Given the description of an element on the screen output the (x, y) to click on. 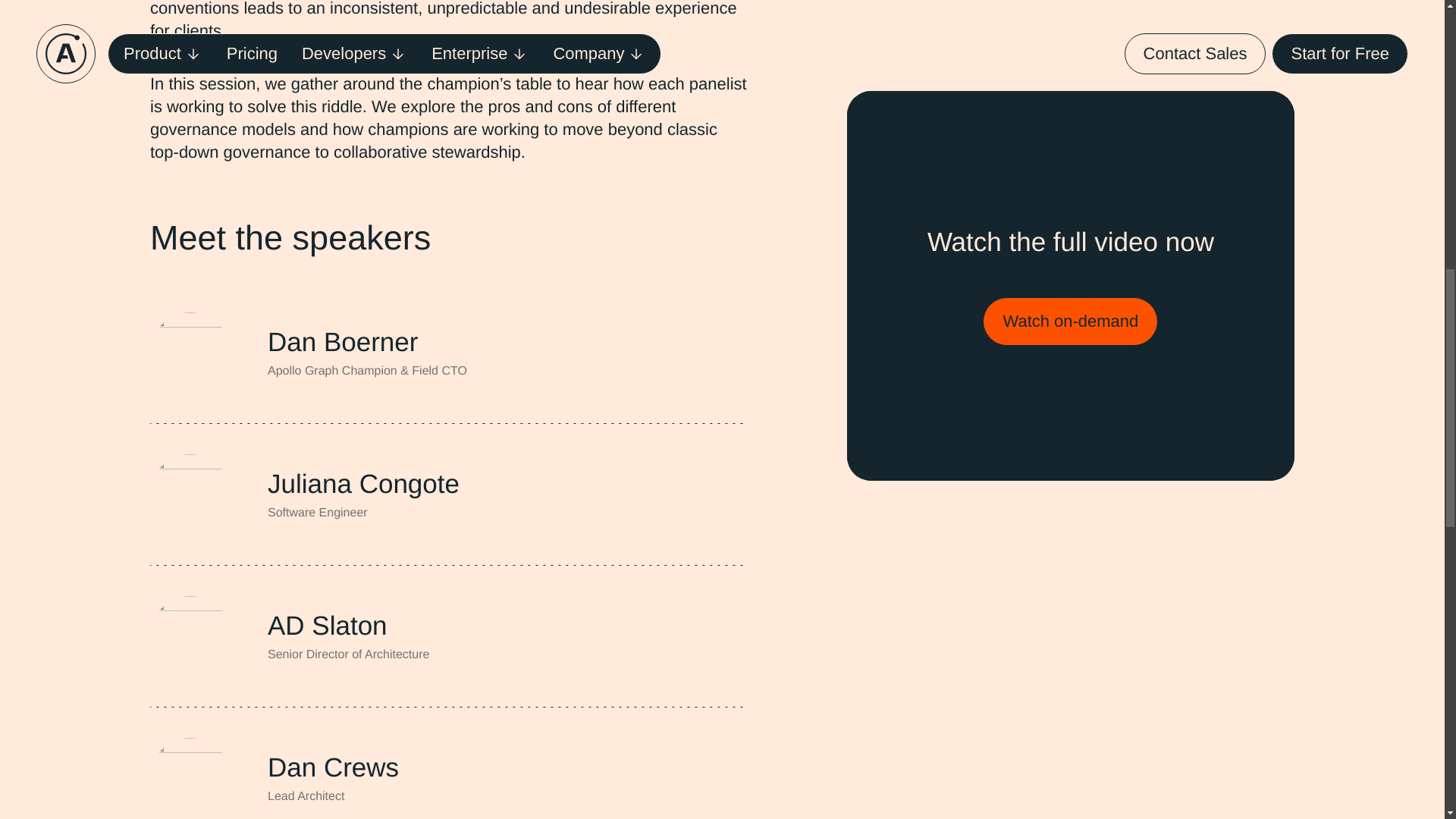
Watch Now (968, 137)
Watch on-demand (1070, 72)
